Given the description of an element on the screen output the (x, y) to click on. 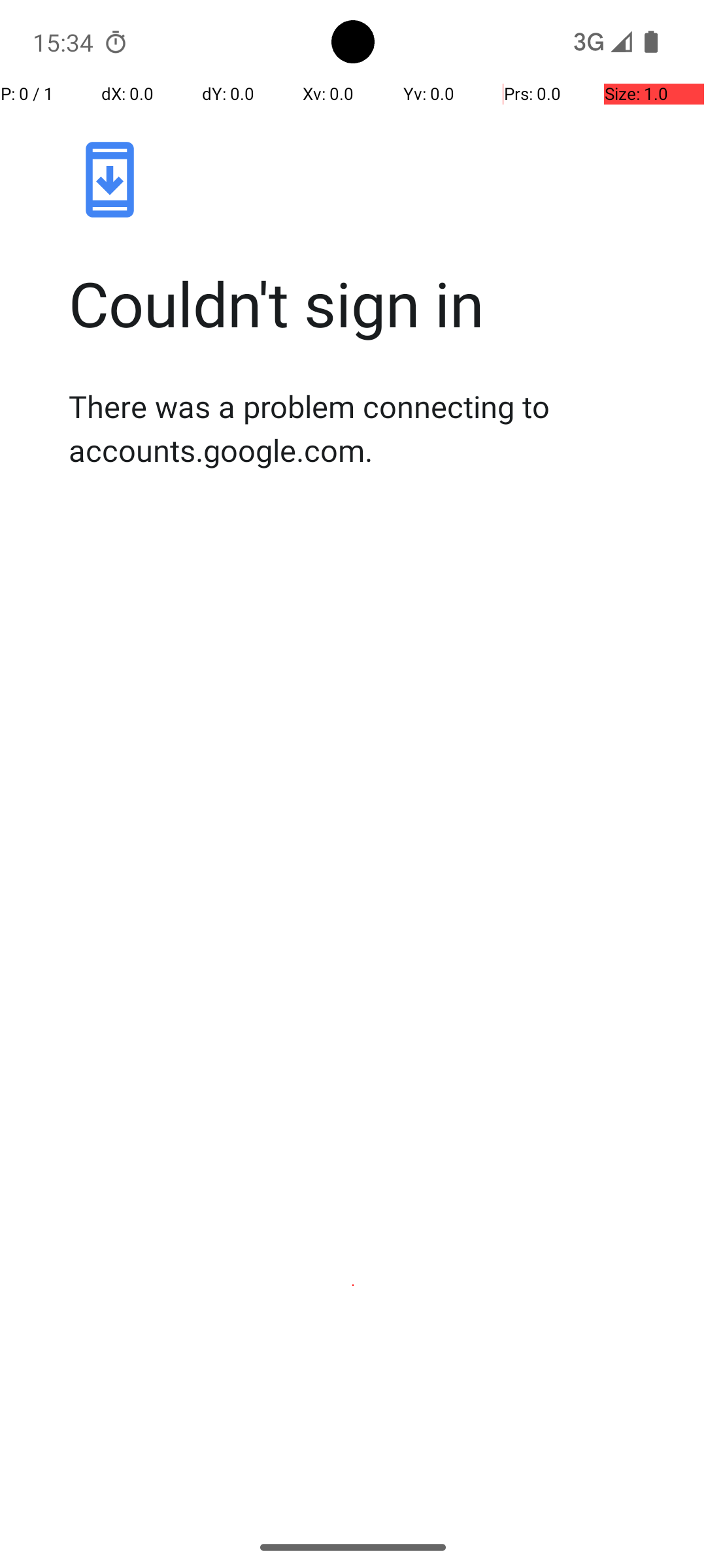
There was a problem connecting to accounts.google.com. Element type: android.widget.TextView (366, 427)
